Given the description of an element on the screen output the (x, y) to click on. 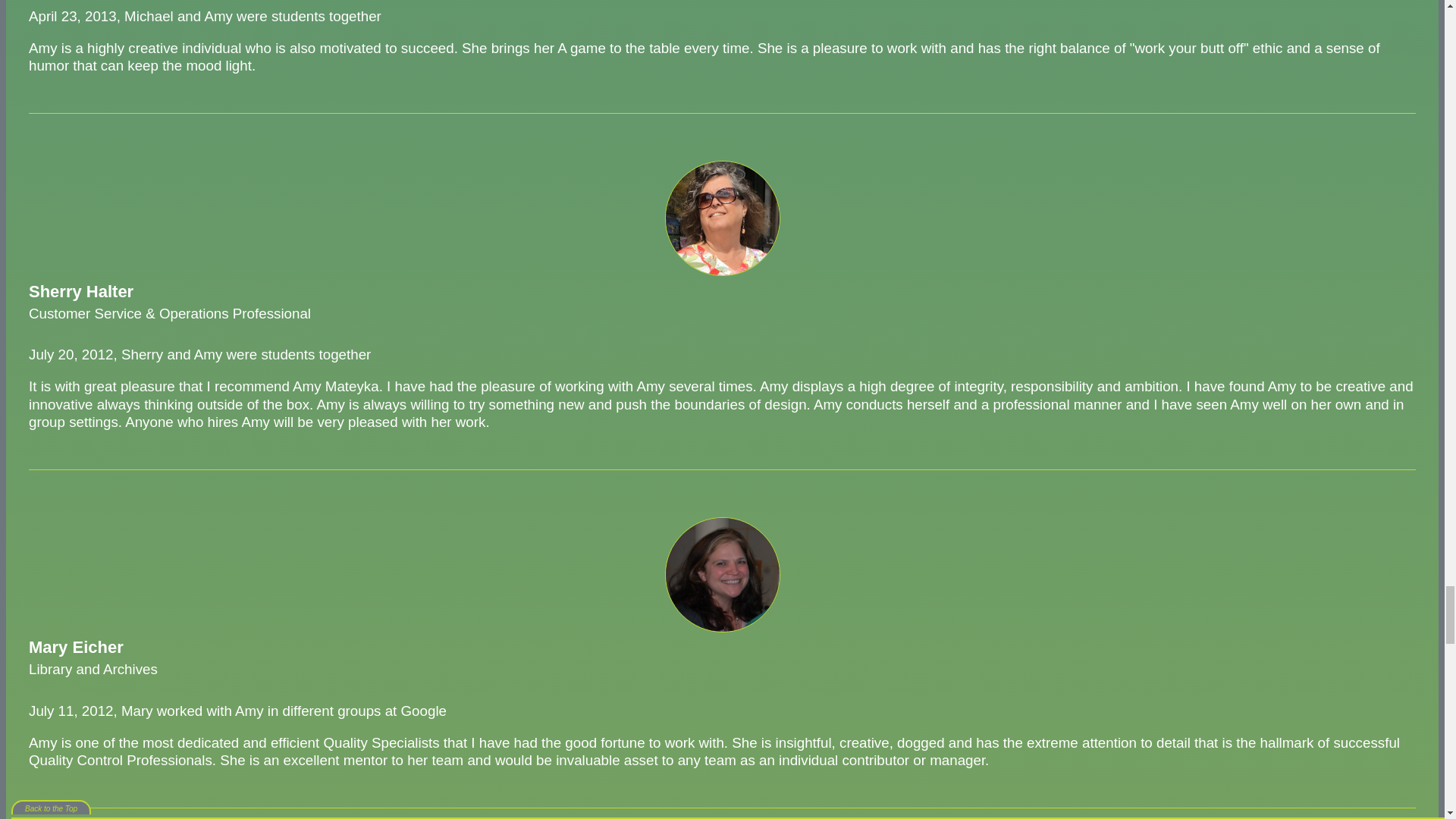
Sherry Halter (720, 218)
Mary Eicher (720, 574)
